Given the description of an element on the screen output the (x, y) to click on. 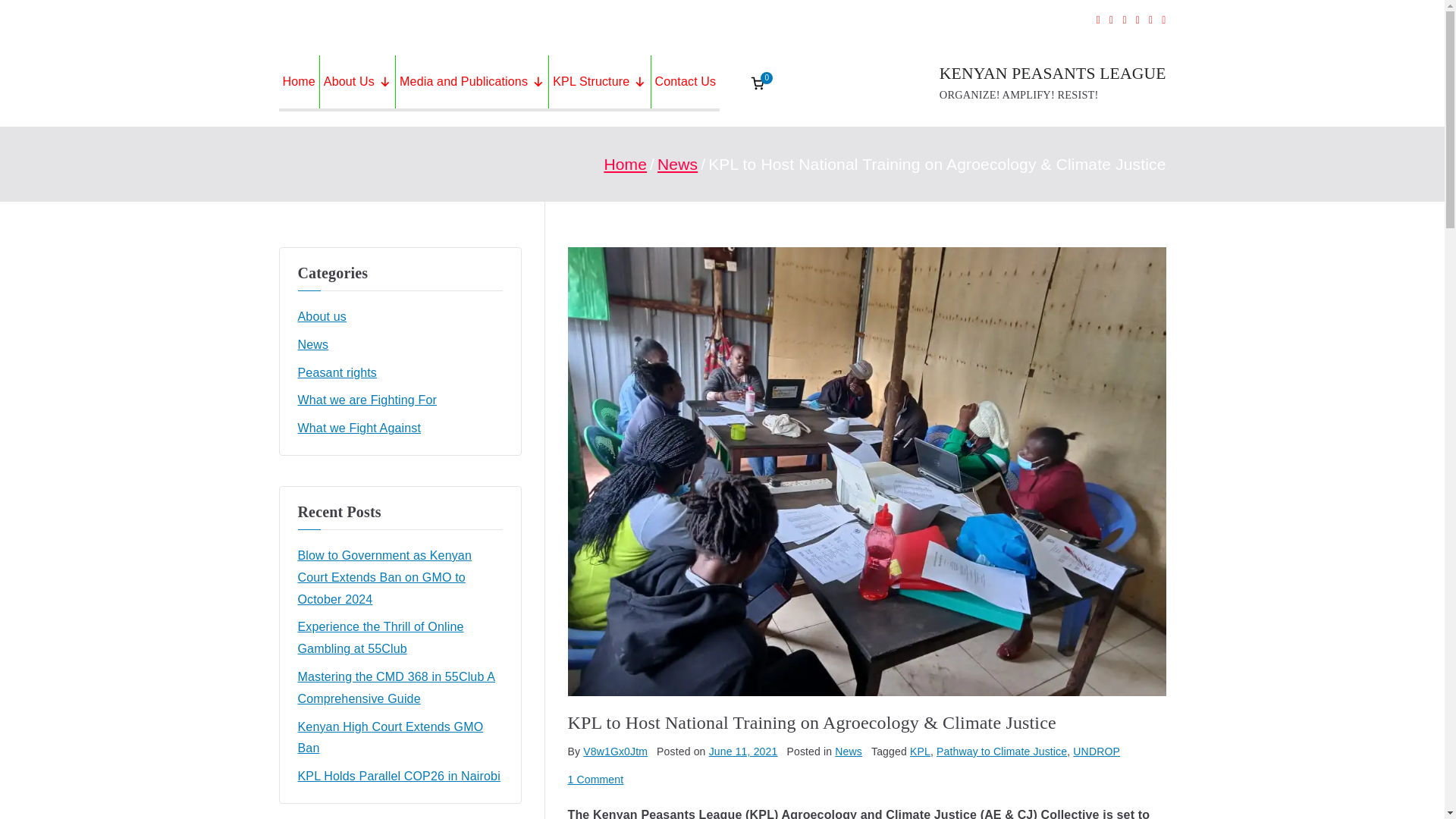
About Us (357, 81)
Media and Publications (472, 81)
KENYAN PEASANTS LEAGUE (1052, 73)
View your shopping cart (757, 83)
